Given the description of an element on the screen output the (x, y) to click on. 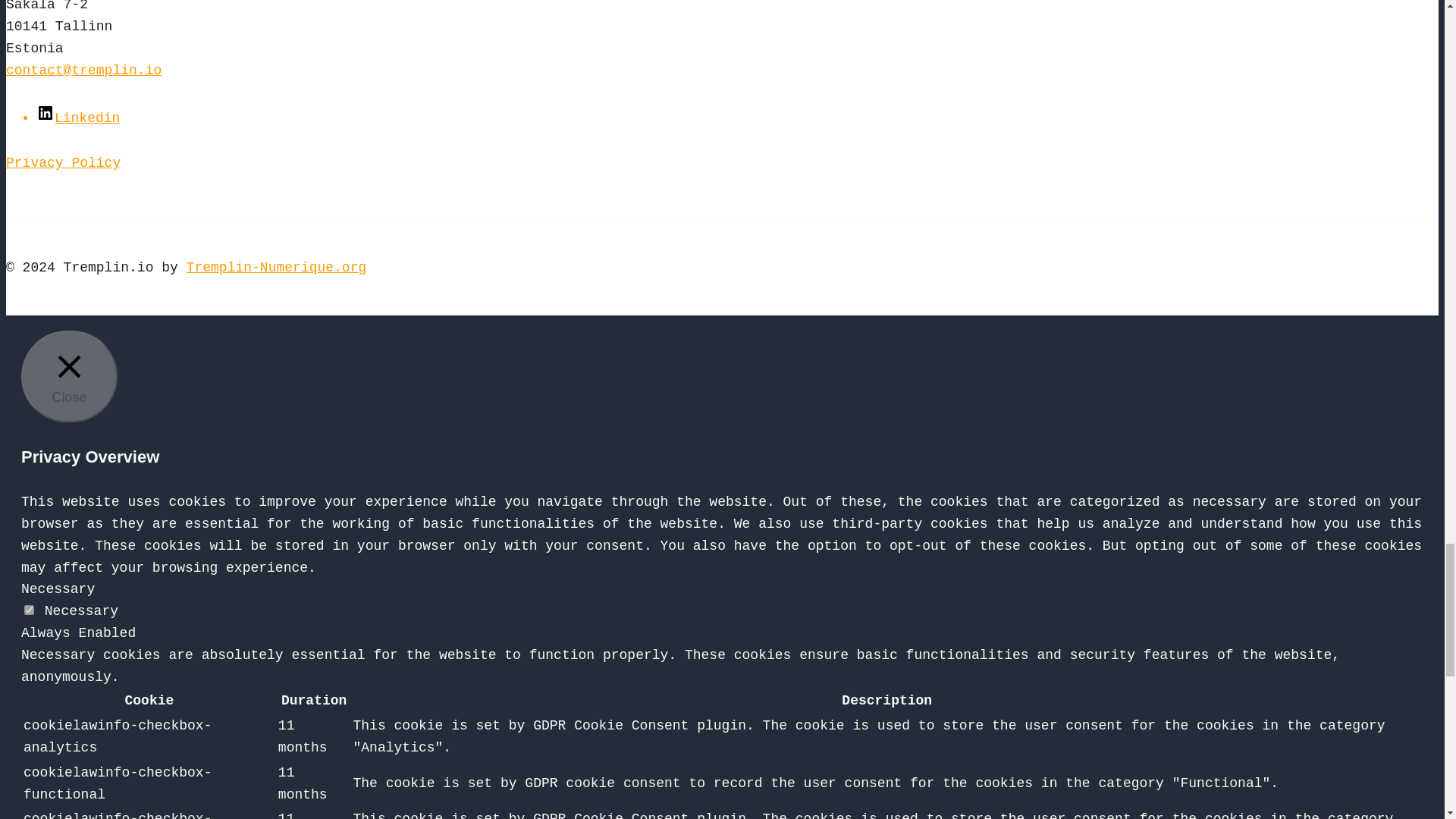
on (28, 610)
Linkedin (77, 118)
Close (69, 376)
Tremplin-Numerique.org (276, 267)
Necessary (57, 589)
Privacy Policy (62, 162)
